Given the description of an element on the screen output the (x, y) to click on. 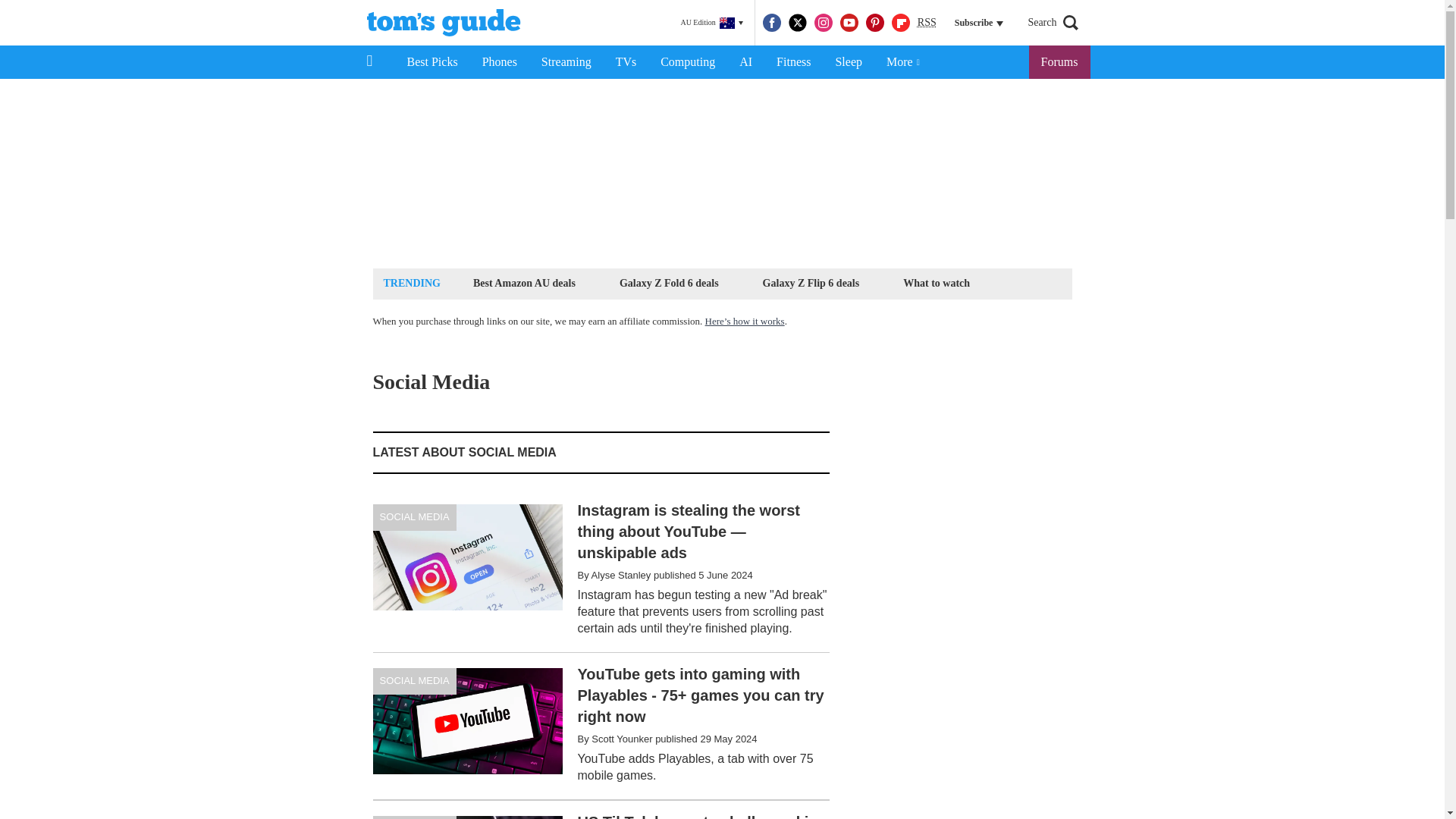
Sleep (848, 61)
Really Simple Syndication (926, 21)
TVs (626, 61)
RSS (926, 22)
Best Picks (431, 61)
Phones (499, 61)
AI (745, 61)
Fitness (793, 61)
Computing (686, 61)
AU Edition (710, 22)
Streaming (566, 61)
